Given the description of an element on the screen output the (x, y) to click on. 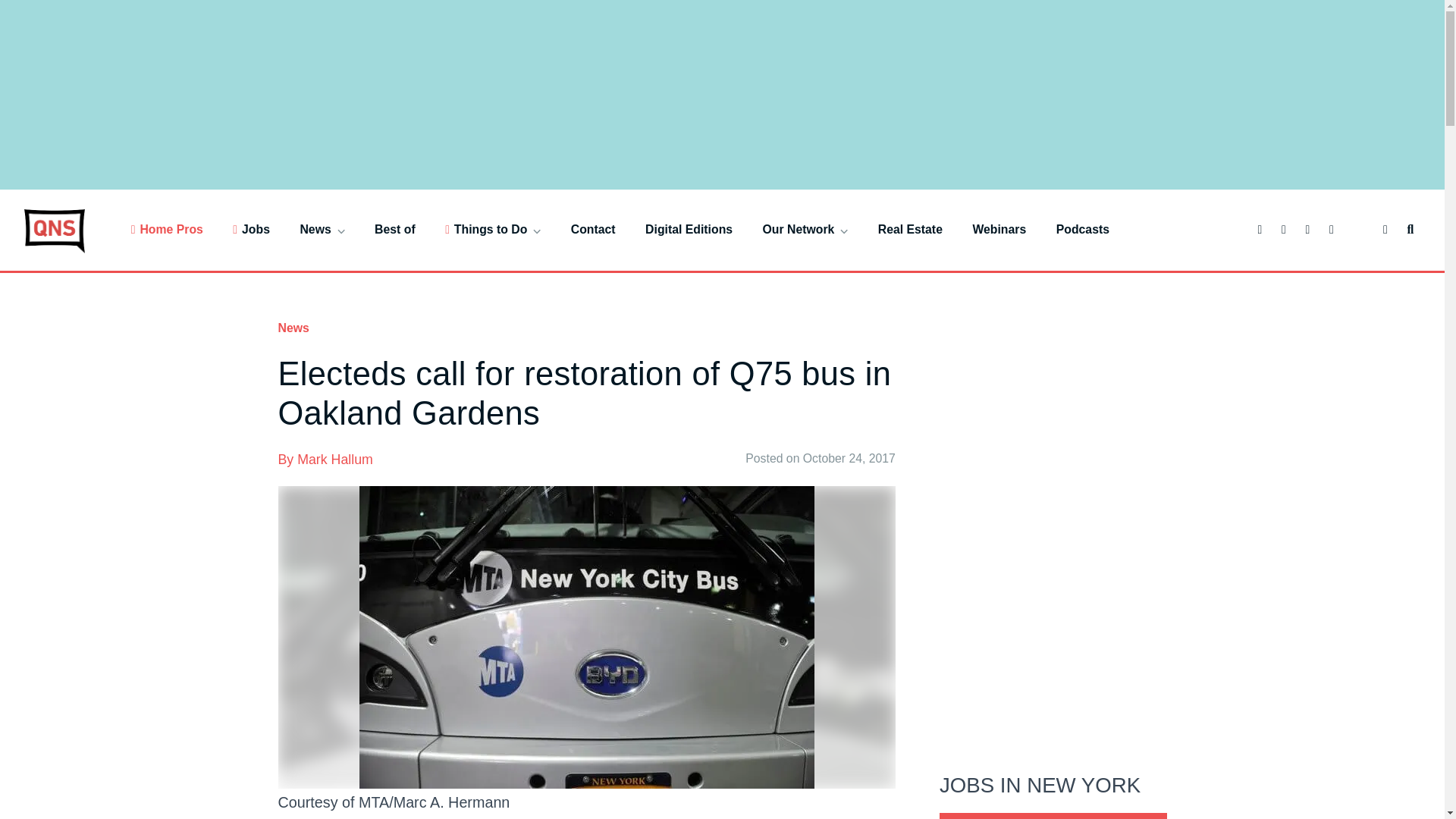
Best of (394, 228)
Podcasts (1083, 228)
Contact (592, 228)
News (321, 228)
Home Pros (167, 228)
Webinars (999, 228)
Digital Editions (688, 228)
Real Estate (909, 228)
Things to Do (492, 228)
Our Network (805, 228)
